Given the description of an element on the screen output the (x, y) to click on. 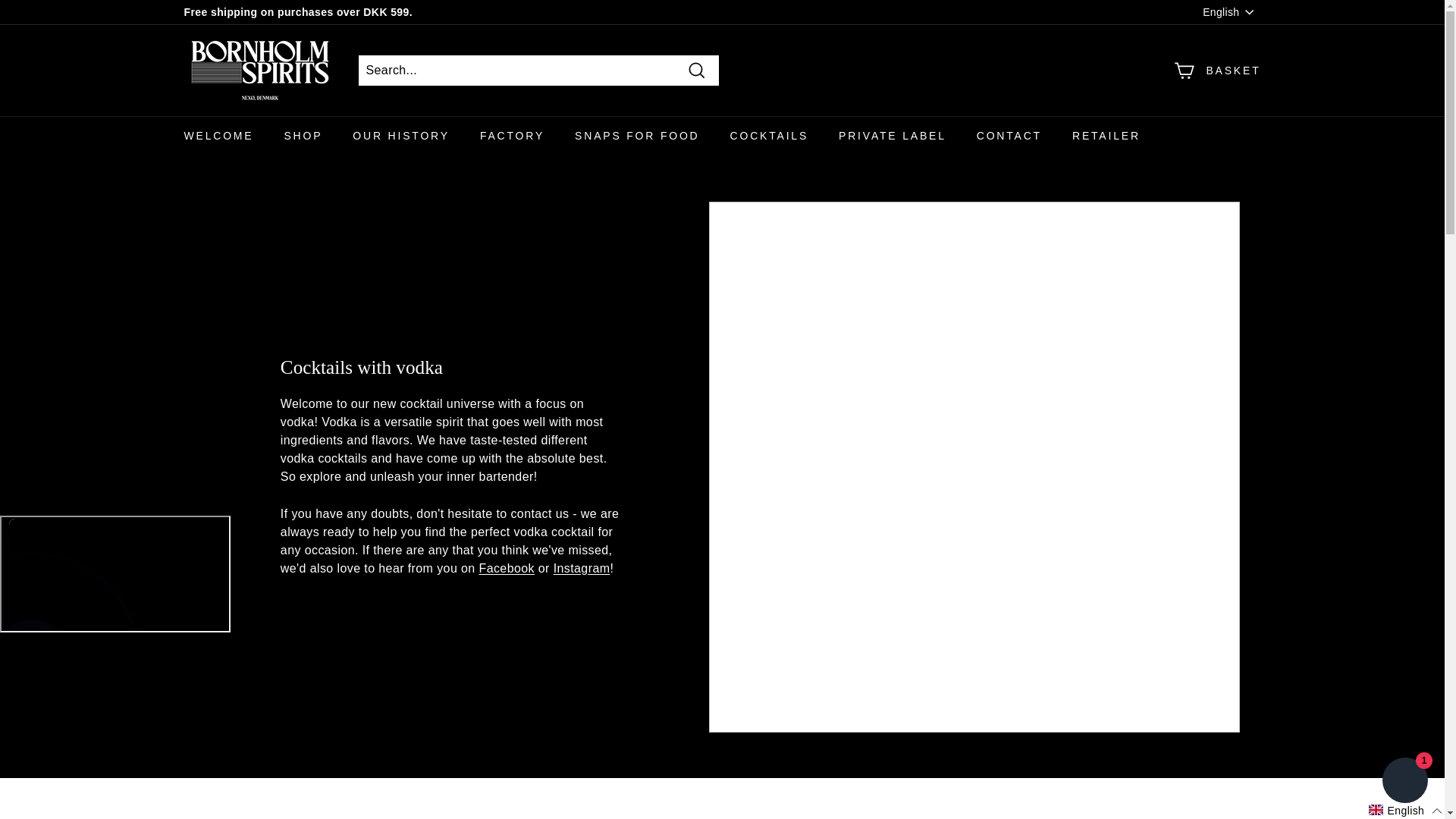
SNAPS FOR FOOD (636, 136)
OUR HISTORY (400, 136)
FACTORY (511, 136)
WELCOME (217, 136)
Shopify online store chat (1404, 781)
SHOP (302, 136)
English (1231, 12)
